Given the description of an element on the screen output the (x, y) to click on. 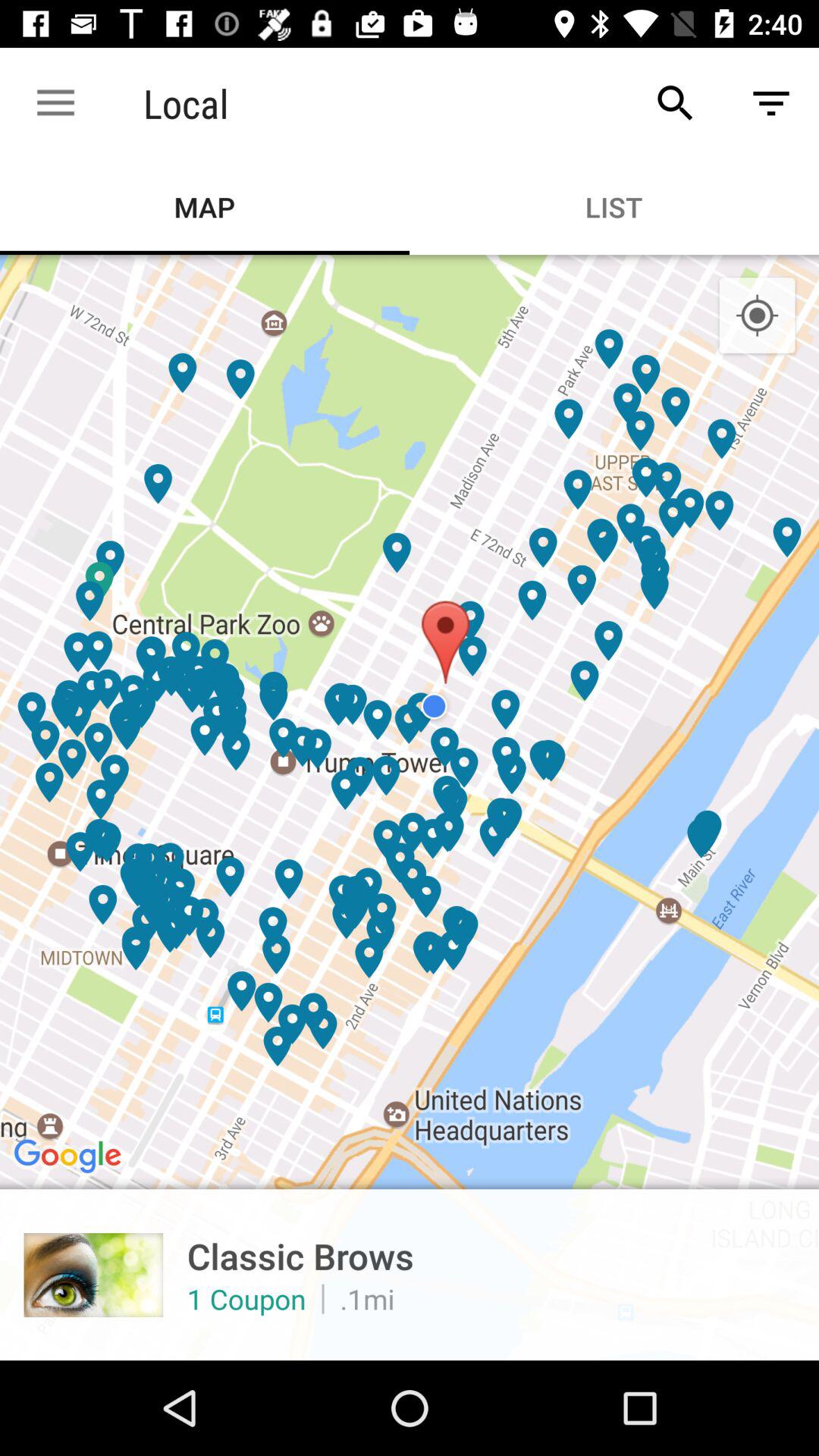
turn on item to the left of local (55, 103)
